Given the description of an element on the screen output the (x, y) to click on. 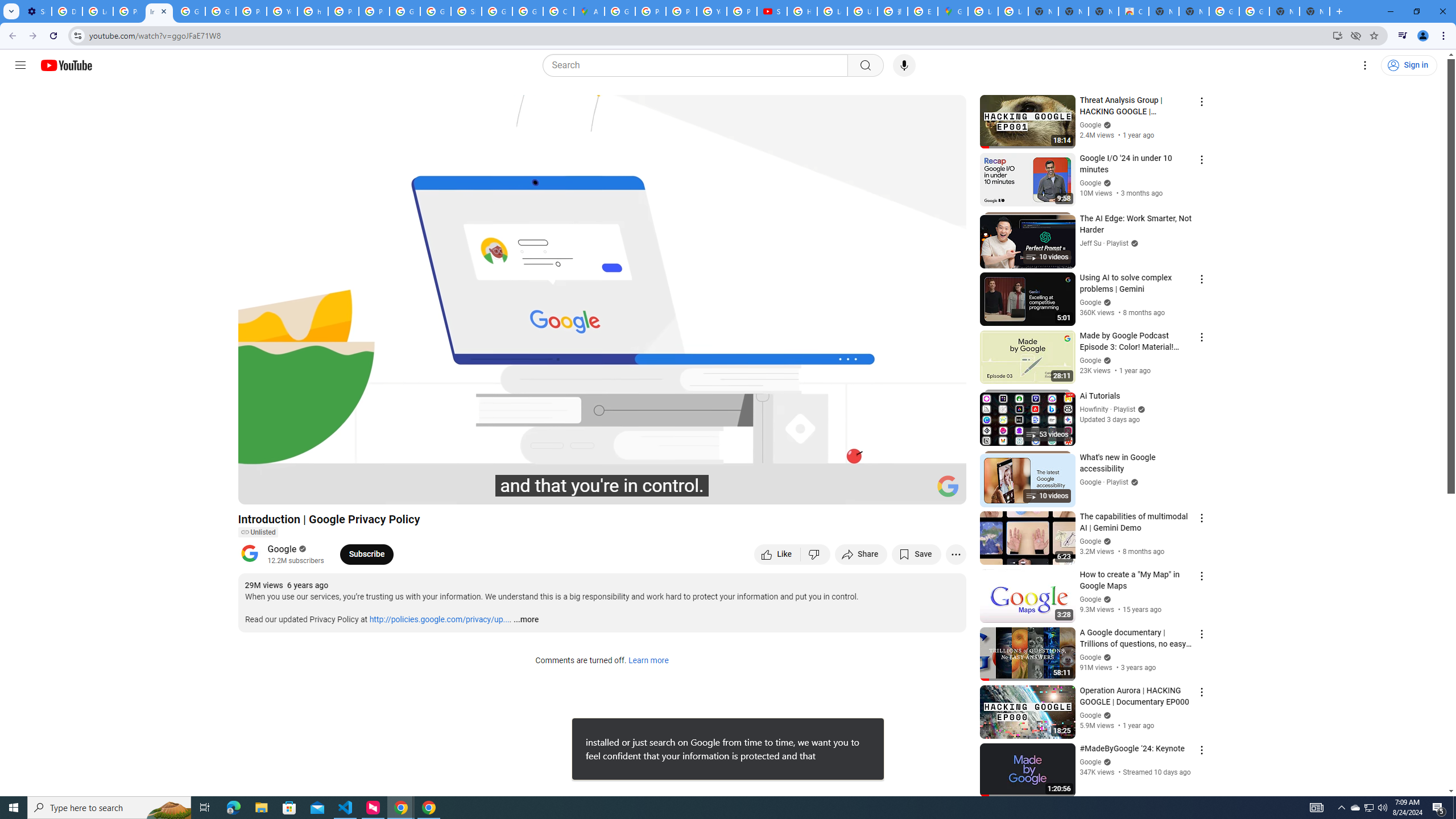
YouTube (282, 11)
Channel watermark (947, 486)
Save to playlist (915, 554)
Chrome Web Store (1133, 11)
Search with your voice (903, 65)
Install YouTube (1336, 35)
